Given the description of an element on the screen output the (x, y) to click on. 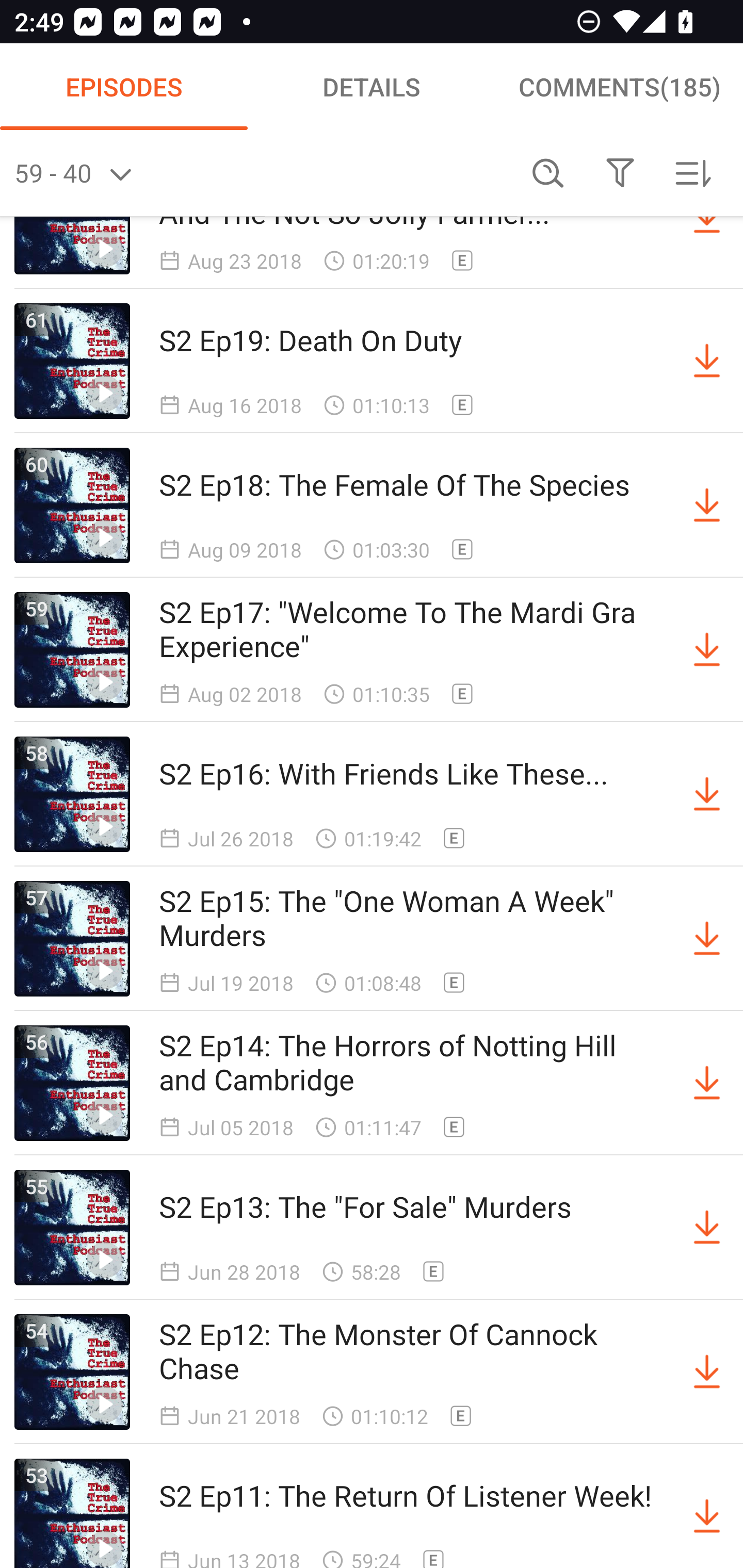
EPISODES (123, 86)
DETAILS (371, 86)
COMMENTS(185) (619, 86)
59 - 40  (262, 173)
 Search (547, 173)
 (619, 173)
 Sorted by newest first (692, 173)
Download (706, 360)
Download (706, 505)
Download (706, 649)
Download (706, 793)
Download (706, 939)
Download (706, 1083)
Download (706, 1227)
Download (706, 1371)
Download (706, 1513)
